Given the description of an element on the screen output the (x, y) to click on. 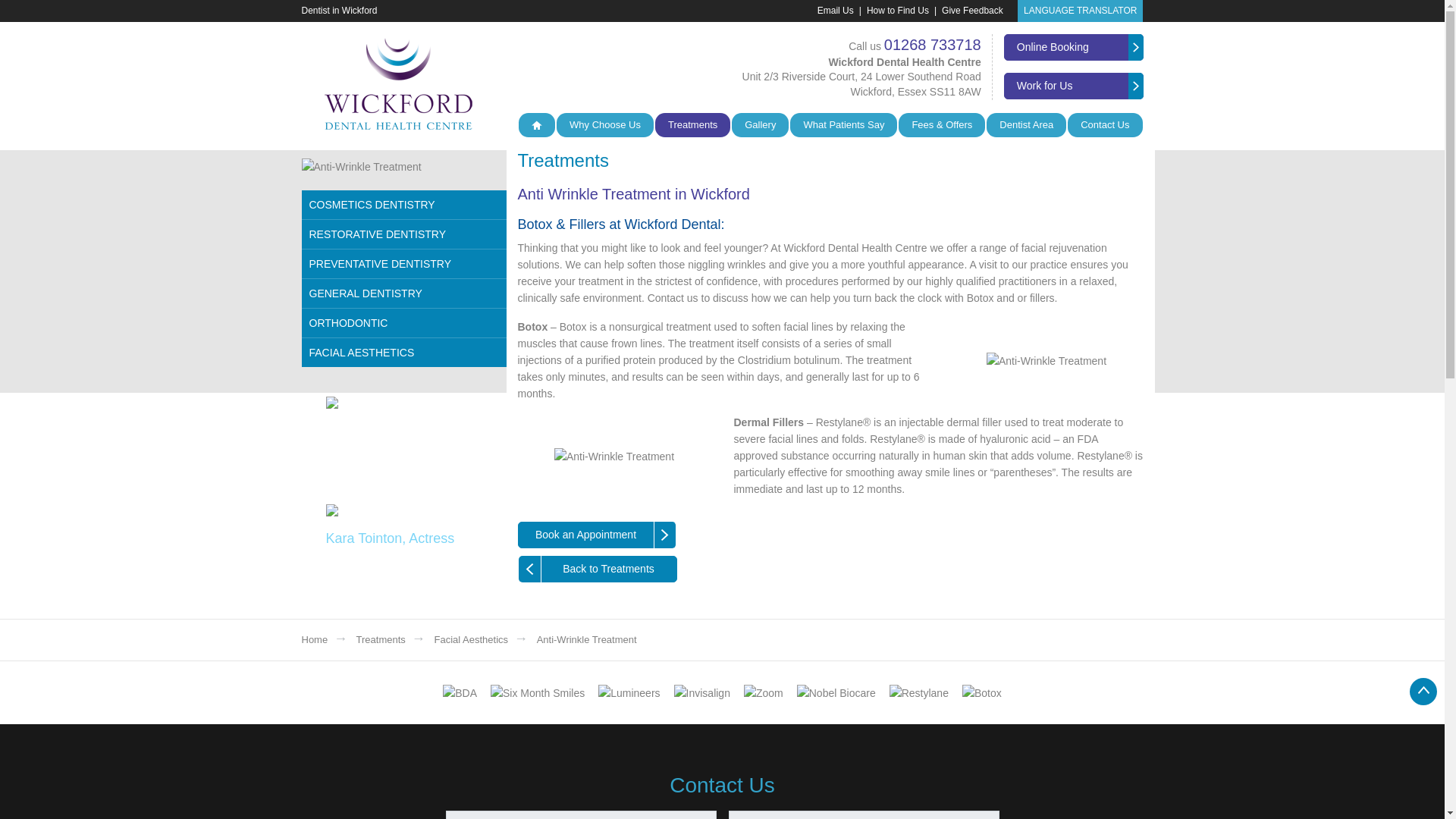
Telephone (863, 814)
Why Choose Us (604, 125)
Treatments (692, 125)
How to Find Us (890, 9)
Click to Top (1423, 691)
Treatments (692, 125)
Home (536, 125)
LANGUAGE TRANSLATOR (1079, 11)
Why Choose Us (604, 125)
Online Booking (1073, 47)
